Given the description of an element on the screen output the (x, y) to click on. 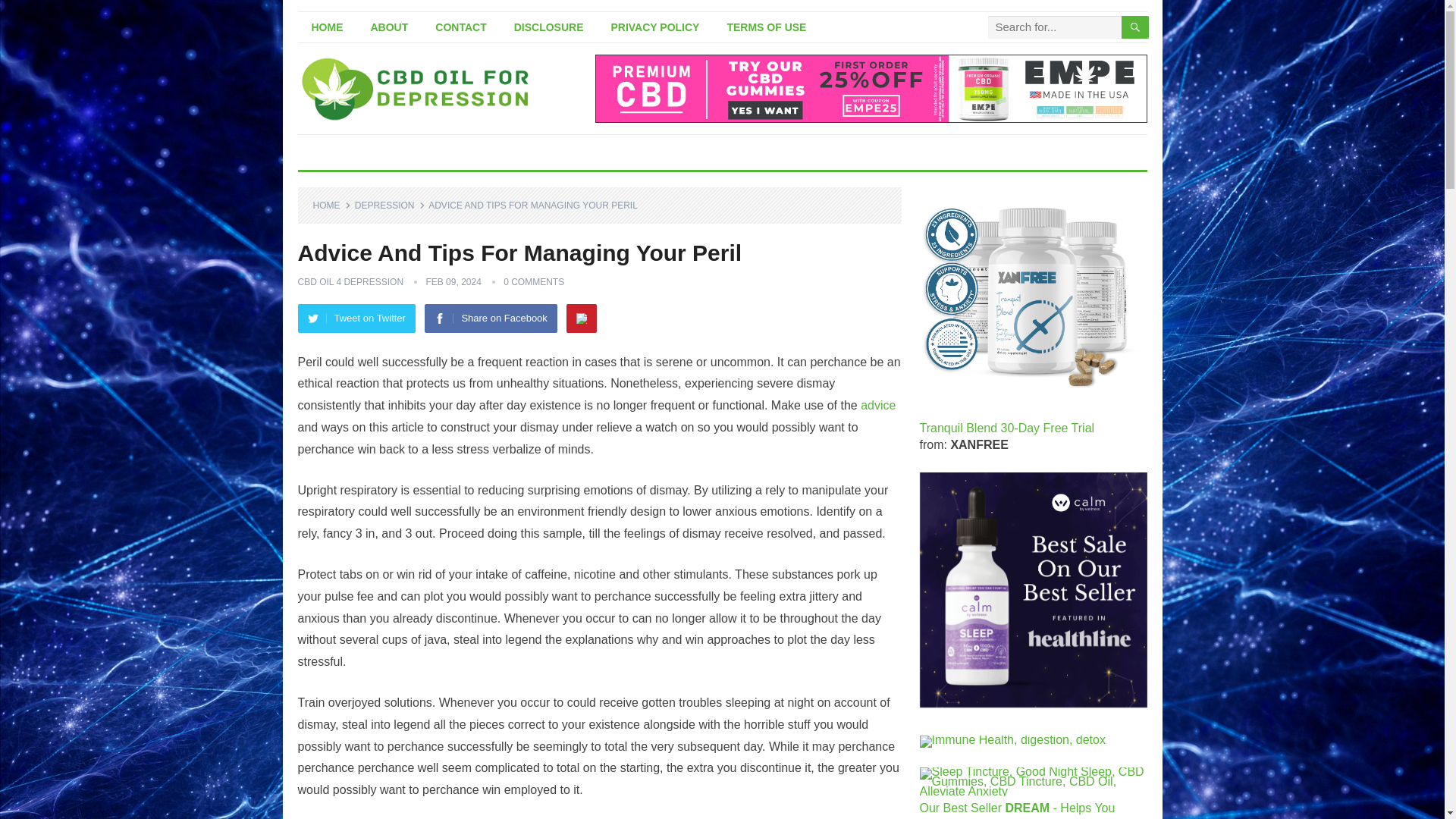
Tweet on Twitter (355, 317)
PRIVACY POLICY (654, 27)
CONTACT (460, 27)
advice (877, 404)
0 COMMENTS (533, 281)
Share on Facebook (490, 317)
HOME (331, 204)
View all posts in Depression (390, 204)
DISCLOSURE (548, 27)
ABOUT (389, 27)
HOME (326, 27)
DEPRESSION (390, 204)
Posts tagged with Advice (877, 404)
Pinterest (581, 317)
TERMS OF USE (766, 27)
